Given the description of an element on the screen output the (x, y) to click on. 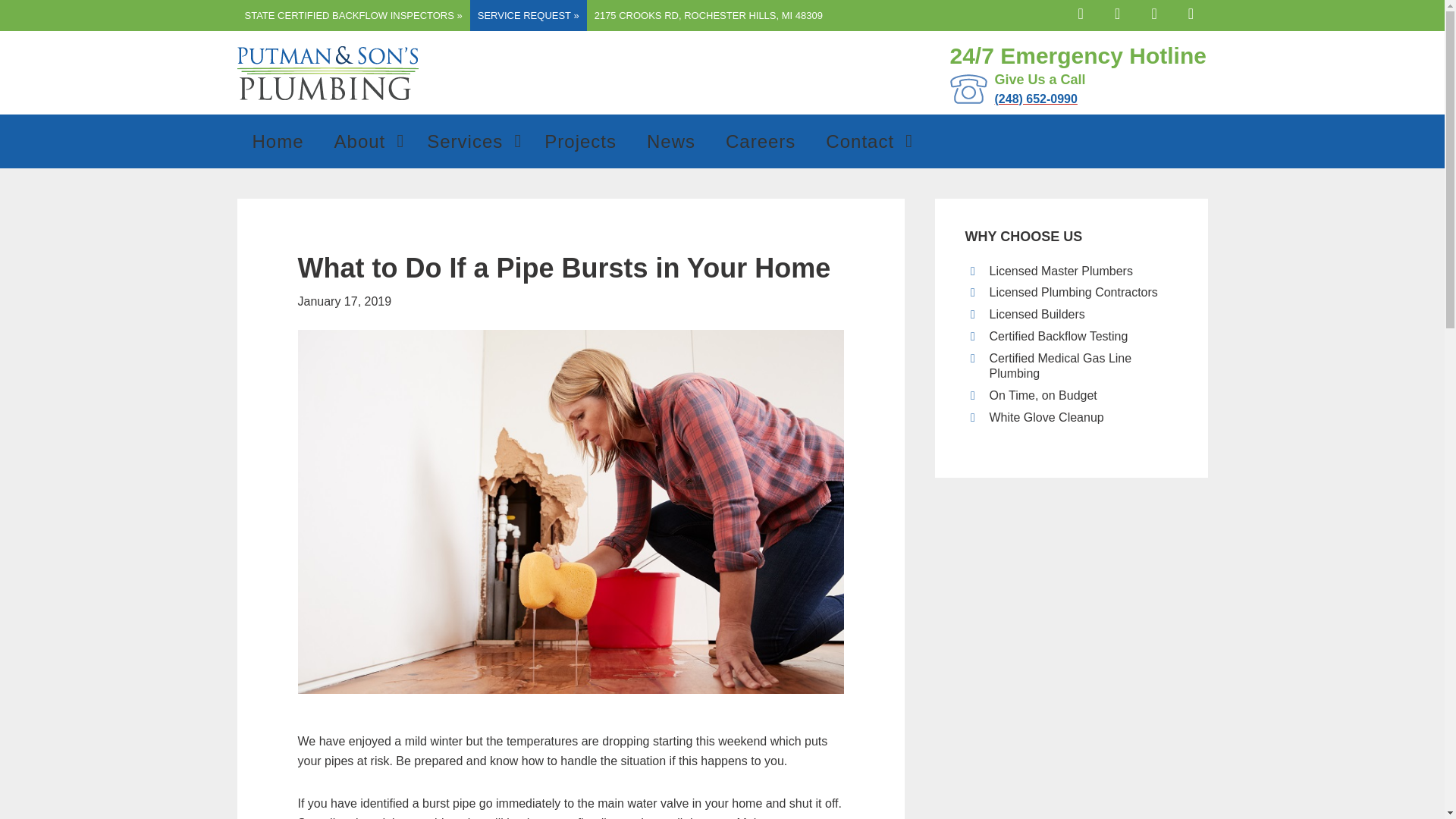
Home (276, 141)
Instagram (1155, 11)
Default Label (1190, 11)
facebook (1082, 11)
twitter (1118, 11)
About (365, 141)
Twitter (1118, 11)
News (670, 141)
Projects (580, 141)
youtube (1155, 11)
2175 CROOKS RD, ROCHESTER HILLS, MI 48309 (707, 15)
Services (470, 141)
Facebook (577, 141)
